Given the description of an element on the screen output the (x, y) to click on. 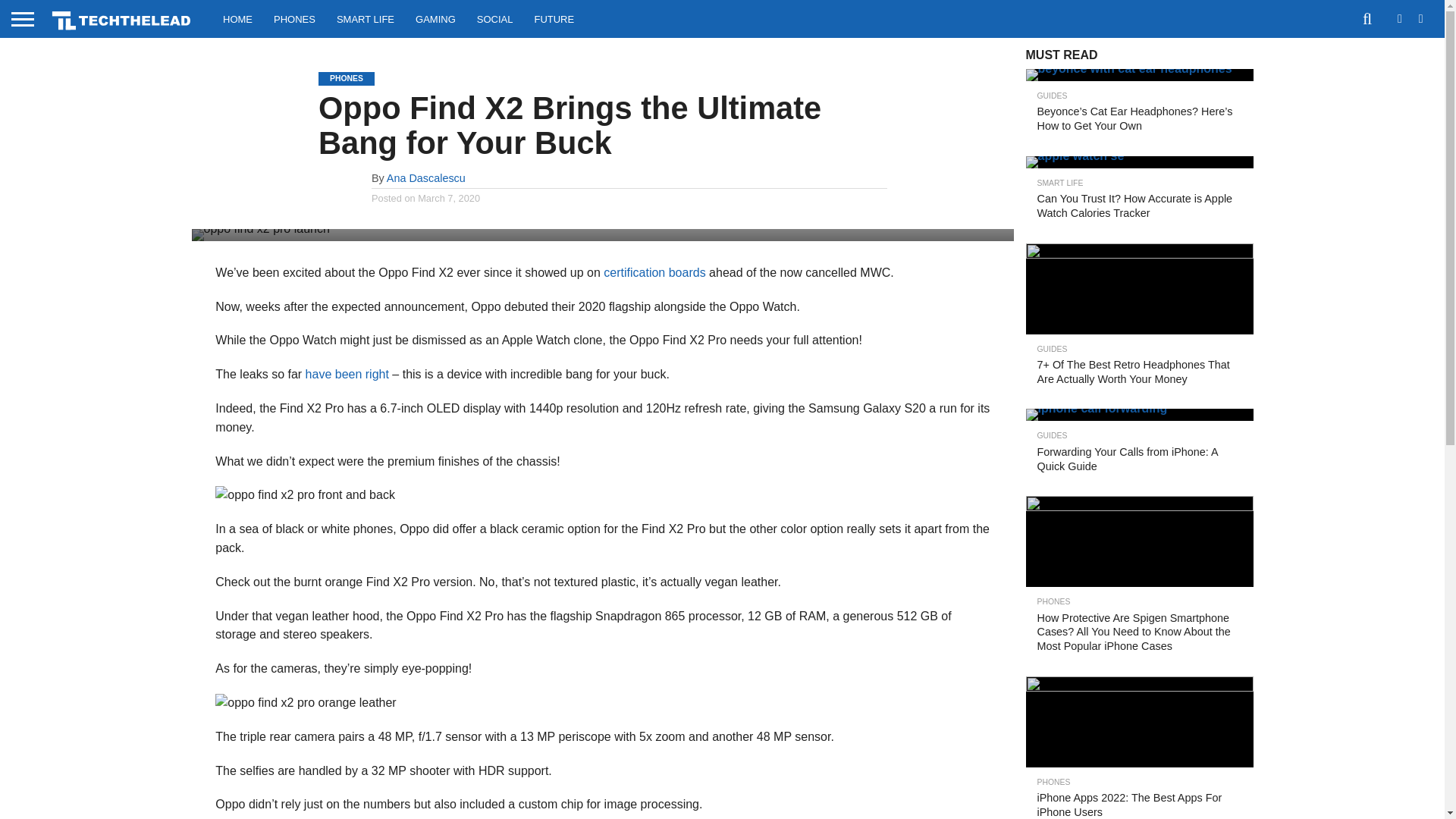
FUTURE (553, 18)
Posts by Ana Dascalescu (426, 177)
SMART LIFE (365, 18)
SOCIAL (494, 18)
GAMING (434, 18)
HOME (237, 18)
PHONES (294, 18)
